Given the description of an element on the screen output the (x, y) to click on. 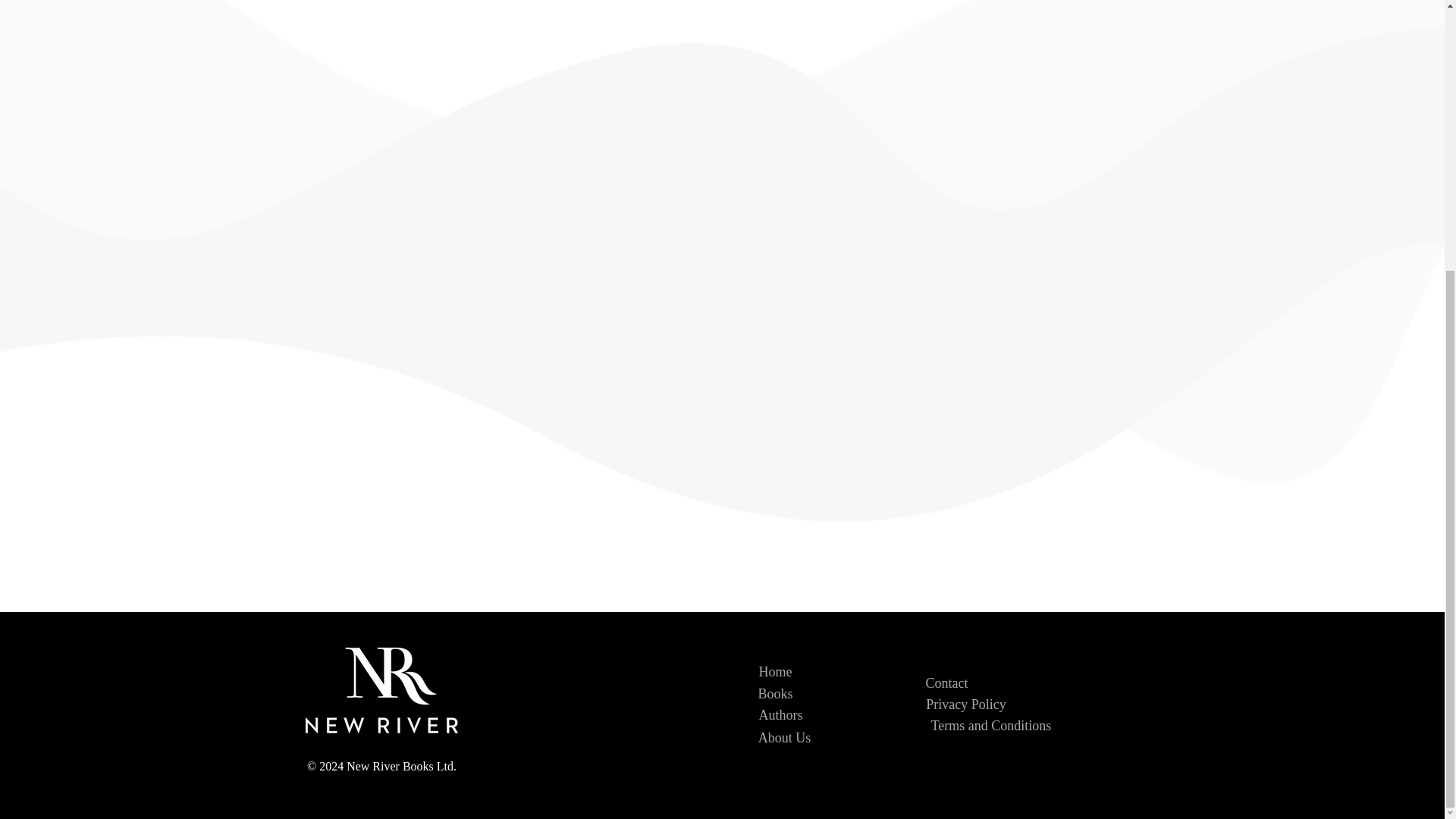
Privacy Policy (966, 703)
About Us (784, 737)
Home (775, 671)
Terms and Conditions (991, 725)
Books (774, 693)
Contact (946, 683)
Authors (780, 714)
